Given the description of an element on the screen output the (x, y) to click on. 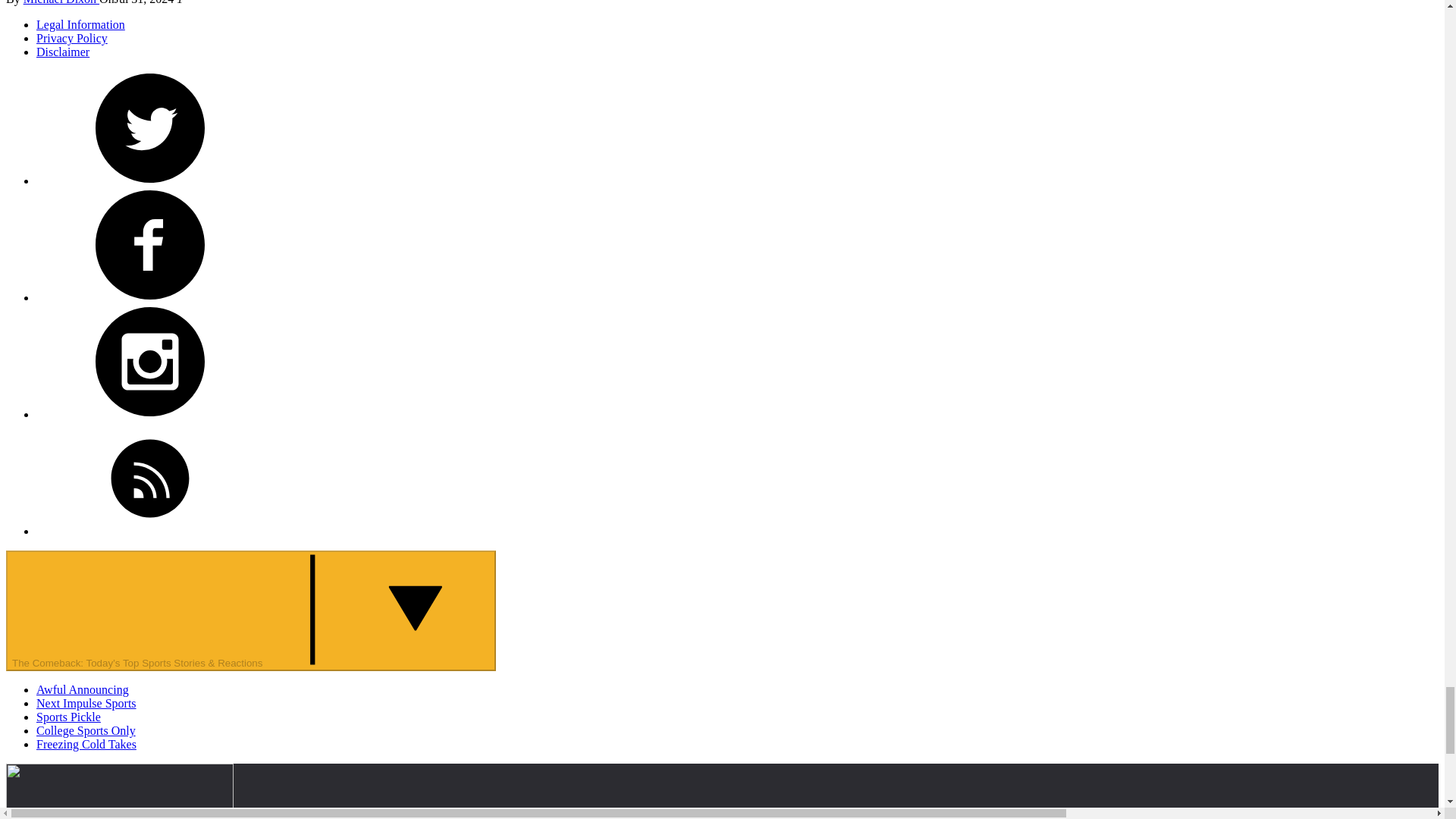
down-carrot (375, 609)
Link to RSS (149, 478)
Link to Twitter (149, 128)
Link to Instagram (149, 361)
Link to Facebook (149, 245)
